Given the description of an element on the screen output the (x, y) to click on. 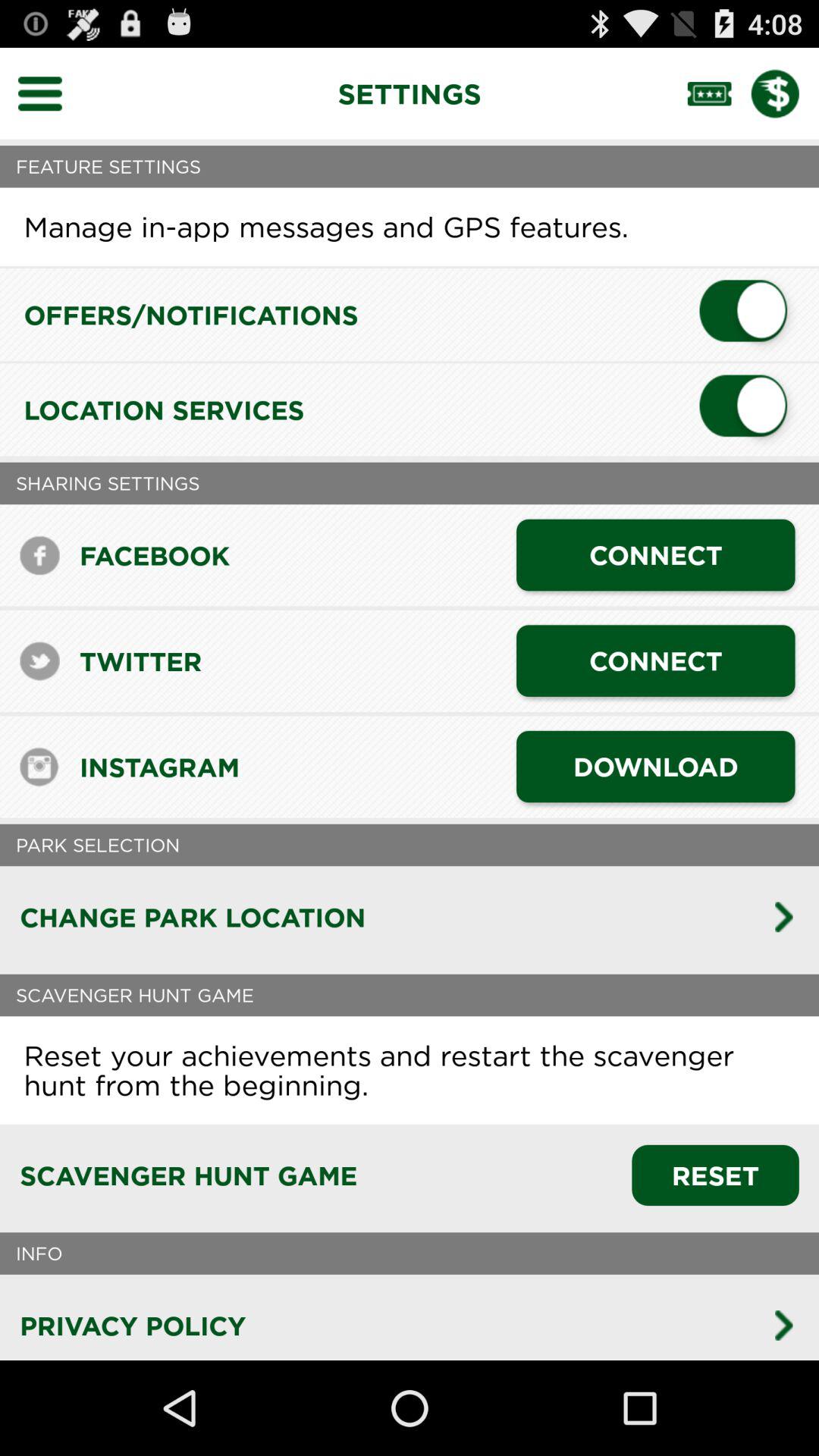
use ticket (719, 93)
